Given the description of an element on the screen output the (x, y) to click on. 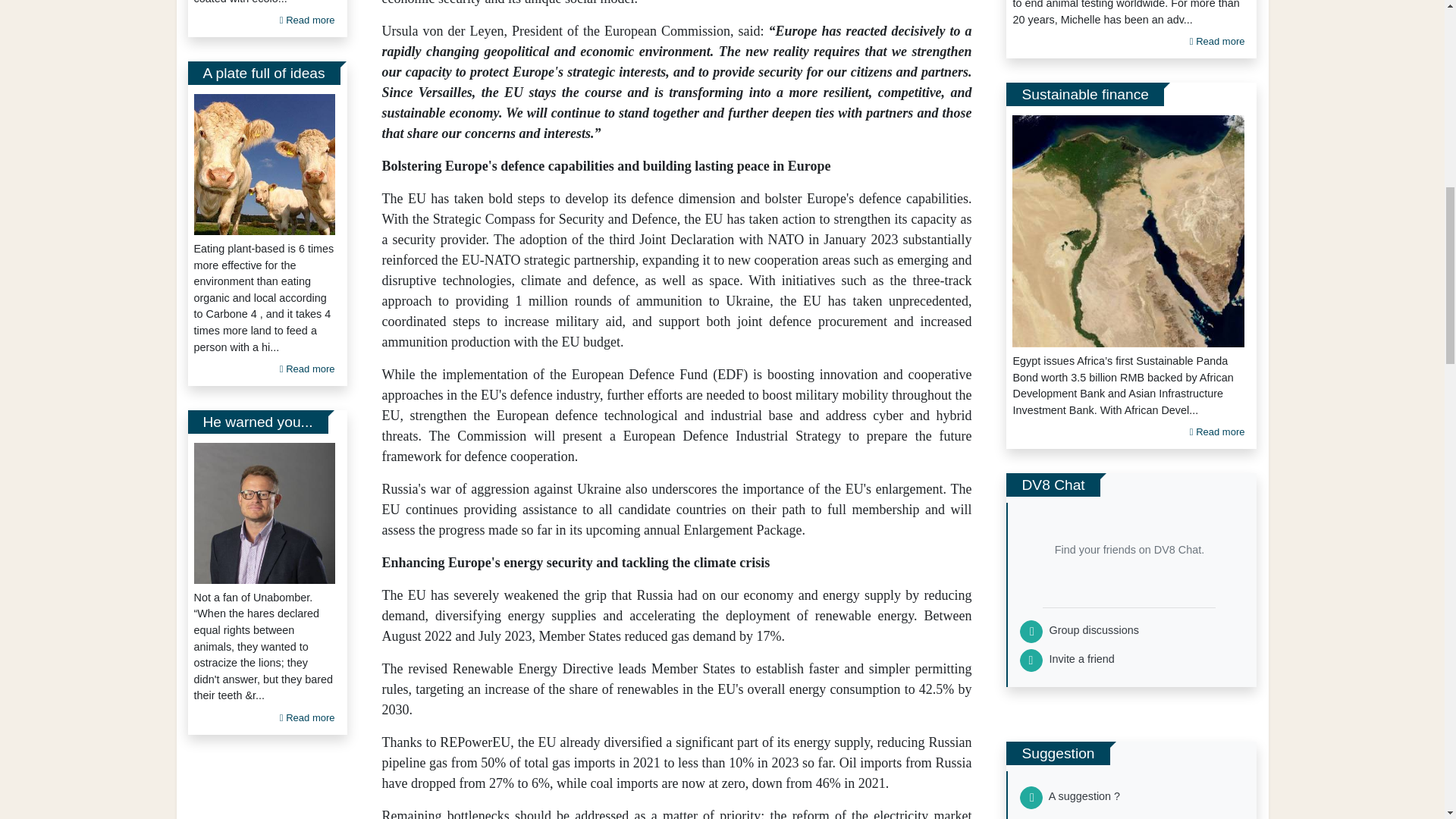
Livestock is destroying our planet. (263, 164)
